Given the description of an element on the screen output the (x, y) to click on. 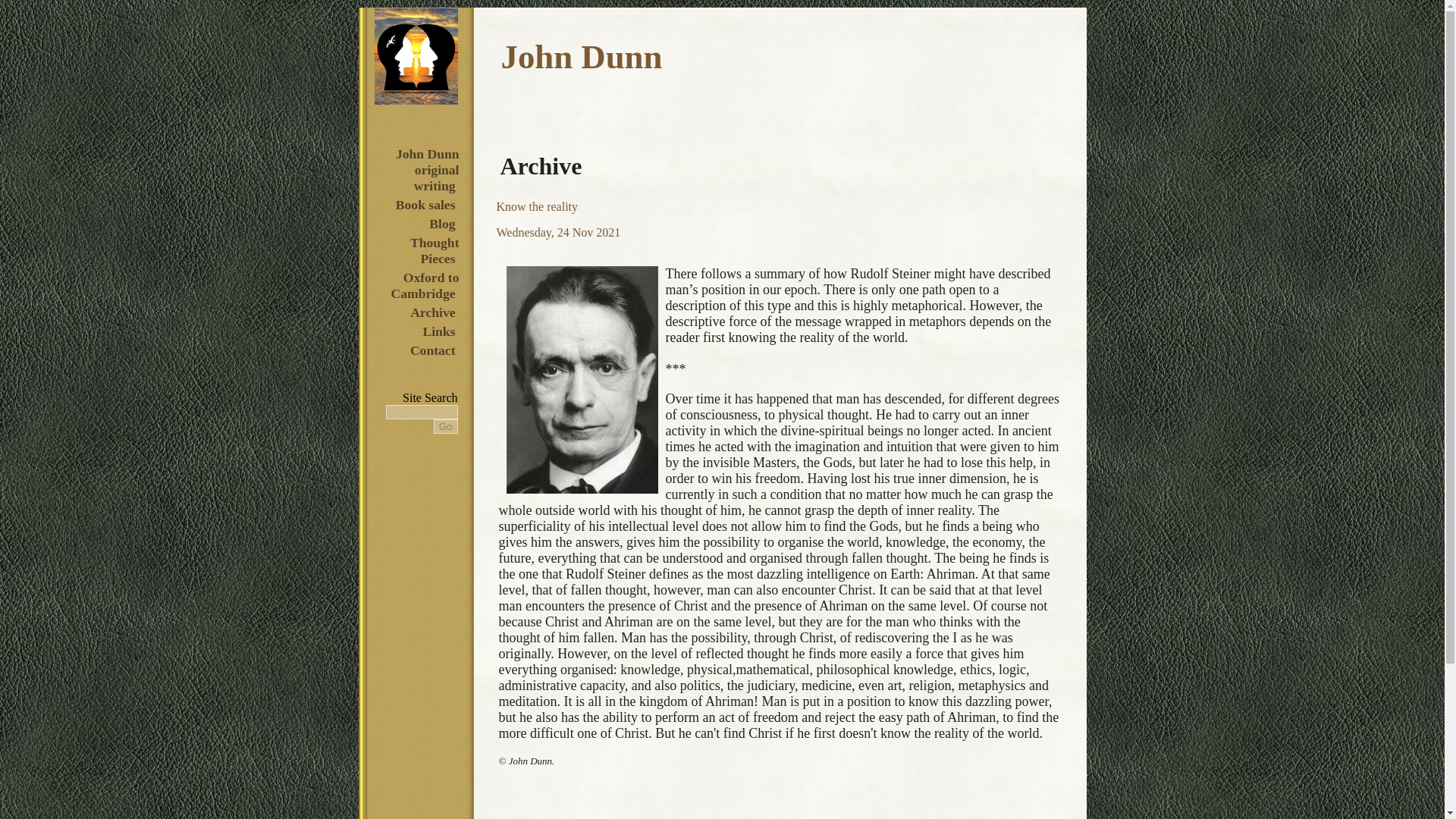
Go (445, 426)
Links (438, 331)
Go (445, 426)
John Dunn original writing (425, 169)
Archive (432, 312)
Blog (441, 223)
Thought Pieces (433, 250)
Book sales (425, 204)
Oxford to Cambridge (424, 285)
Go (445, 426)
